Given the description of an element on the screen output the (x, y) to click on. 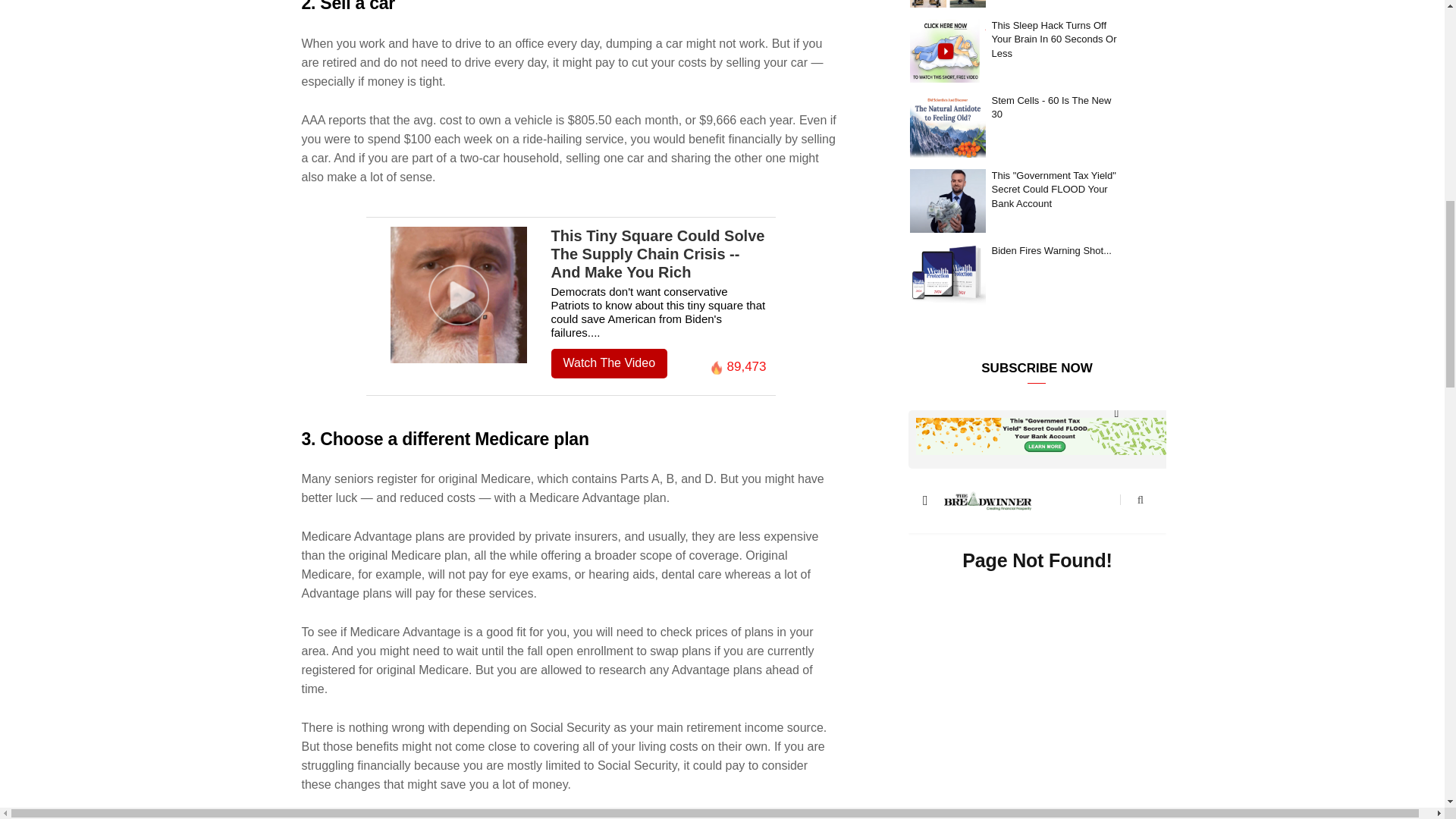
Watch The Video (608, 363)
89,473 (737, 366)
